Given the description of an element on the screen output the (x, y) to click on. 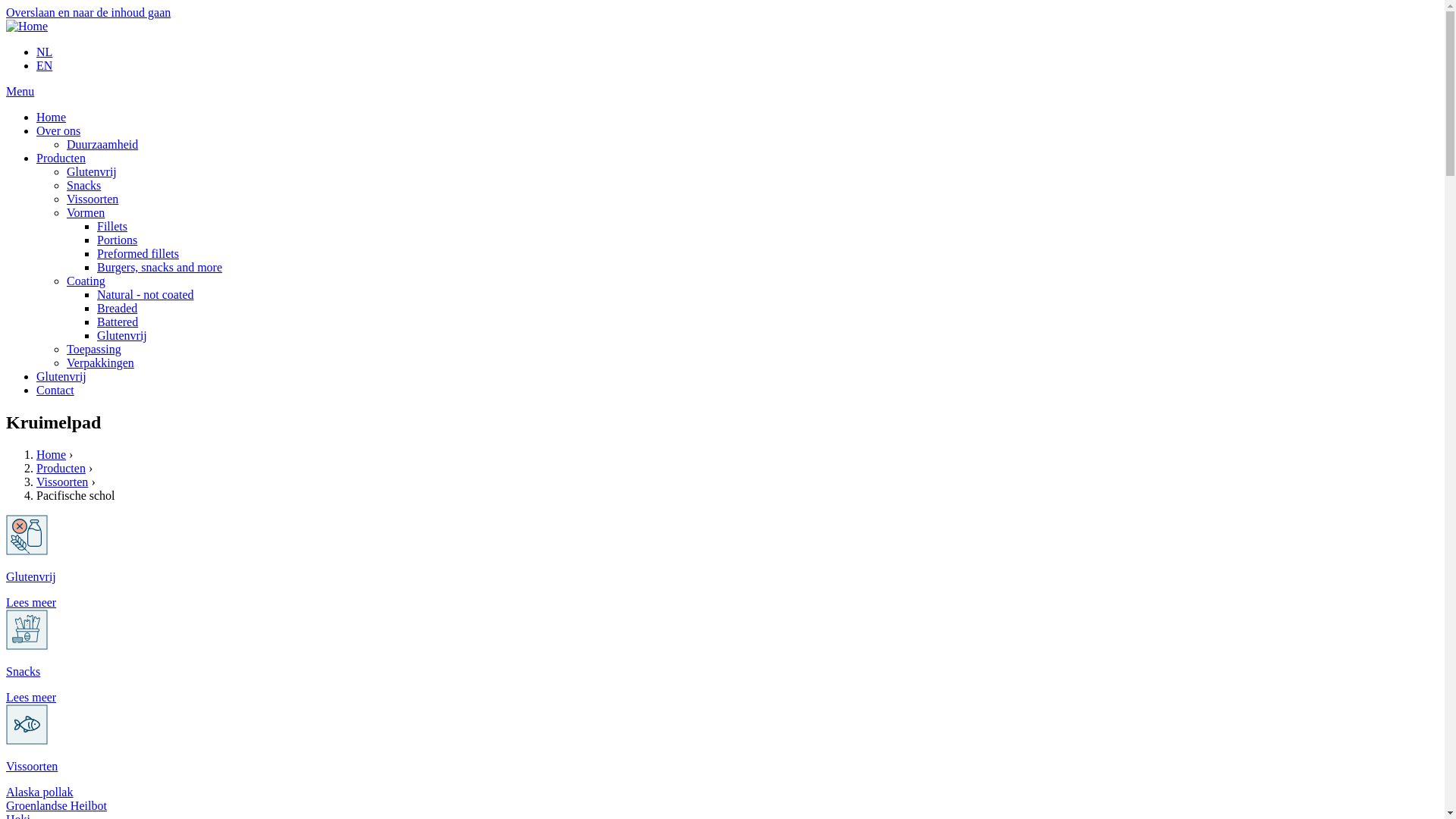
Toepassing Element type: text (93, 348)
Home Element type: text (50, 454)
Vissoorten Element type: text (31, 765)
EN Element type: text (44, 65)
Battered Element type: text (117, 321)
Burgers, snacks and more Element type: text (159, 266)
Over ons Element type: text (58, 130)
Vissoorten Element type: text (61, 481)
Glutenvrij Element type: text (91, 171)
Snacks Element type: text (23, 671)
Natural - not coated Element type: text (145, 294)
Portions Element type: text (117, 239)
Alaska pollak Element type: text (39, 791)
Contact Element type: text (55, 389)
Glutenvrij Element type: text (122, 335)
Vormen Element type: text (85, 212)
Groenlandse Heilbot Element type: text (56, 805)
Glutenvrij Element type: text (31, 576)
Duurzaamheid Element type: text (102, 144)
Lees meer Element type: text (31, 696)
Overslaan en naar de inhoud gaan Element type: text (88, 12)
Coating Element type: text (85, 280)
Home Element type: text (50, 116)
Breaded Element type: text (117, 307)
Vissoorten Element type: text (92, 198)
Preformed fillets Element type: text (137, 253)
Producten Element type: text (60, 157)
Verpakkingen Element type: text (100, 362)
Menu Element type: text (20, 90)
Fillets Element type: text (112, 225)
NL Element type: text (44, 51)
Snacks Element type: text (83, 184)
Producten Element type: text (60, 467)
Glutenvrij Element type: text (61, 376)
Lees meer Element type: text (31, 602)
